Given the description of an element on the screen output the (x, y) to click on. 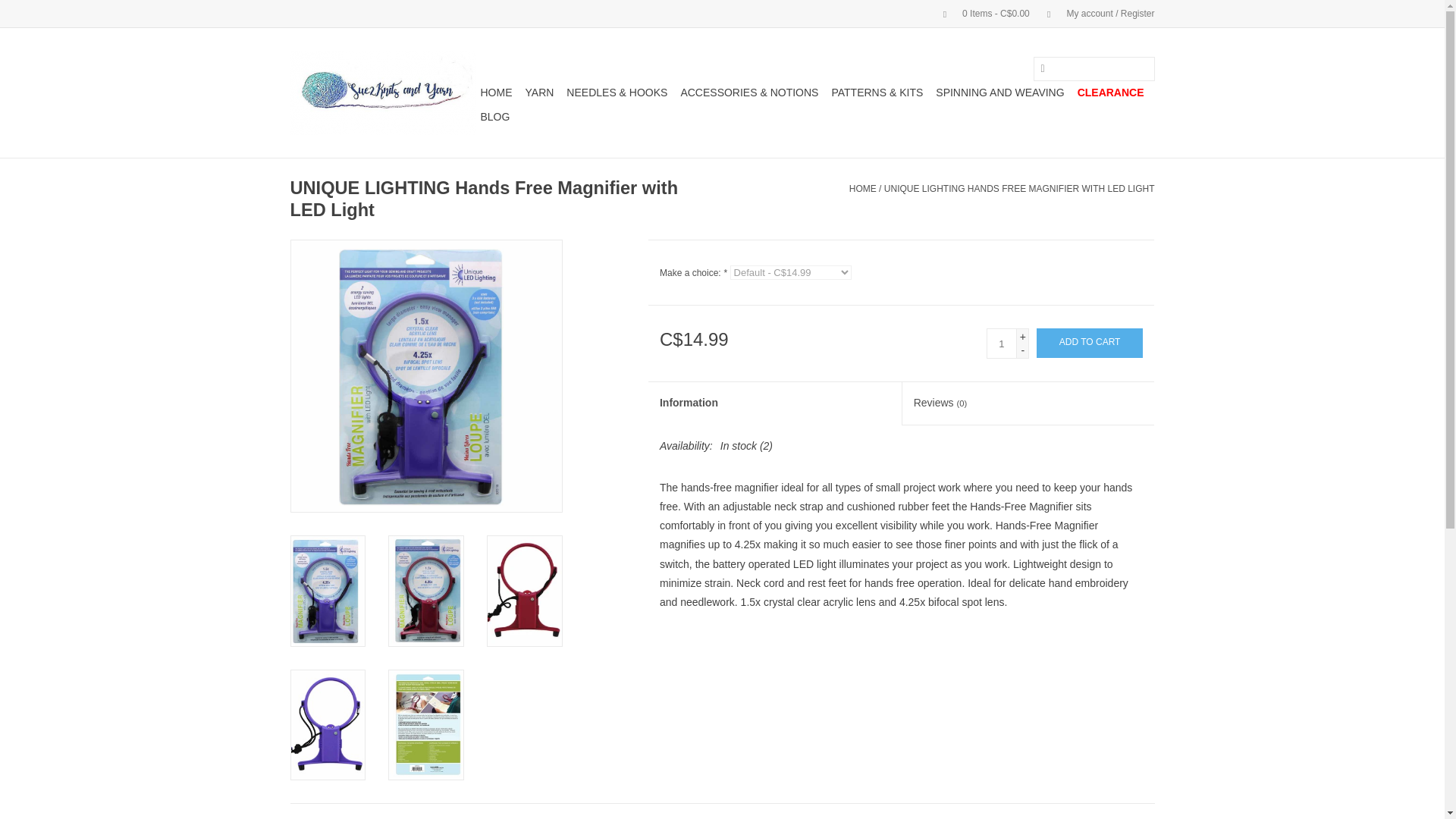
My account (1093, 13)
YARN (538, 92)
1 (1001, 343)
HOME (496, 92)
Cart (980, 13)
Sue2Knits and Yarn (382, 92)
Yarn (538, 92)
